Given the description of an element on the screen output the (x, y) to click on. 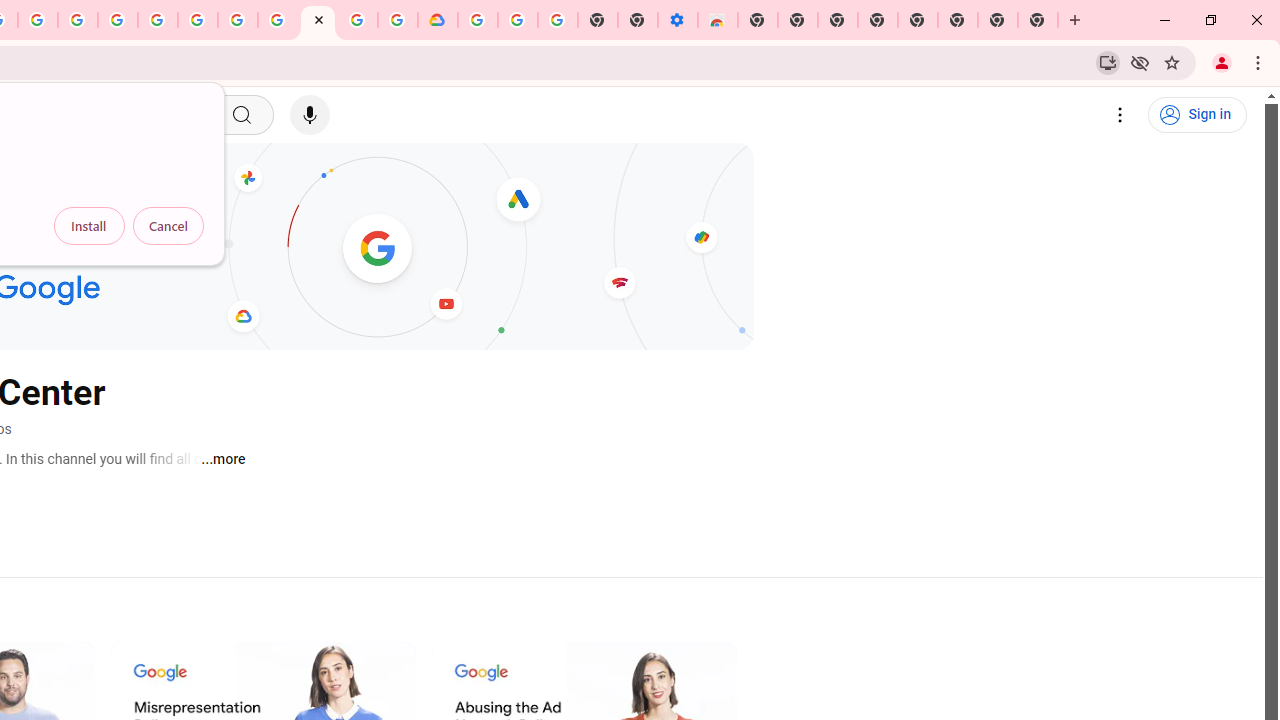
Sign in - Google Accounts (157, 20)
Google Account Help (517, 20)
Android TV Policies and Guidelines - Transparency Center (278, 20)
Create your Google Account (357, 20)
Sign in - Google Accounts (477, 20)
Chrome Web Store - Accessibility extensions (717, 20)
